Given the description of an element on the screen output the (x, y) to click on. 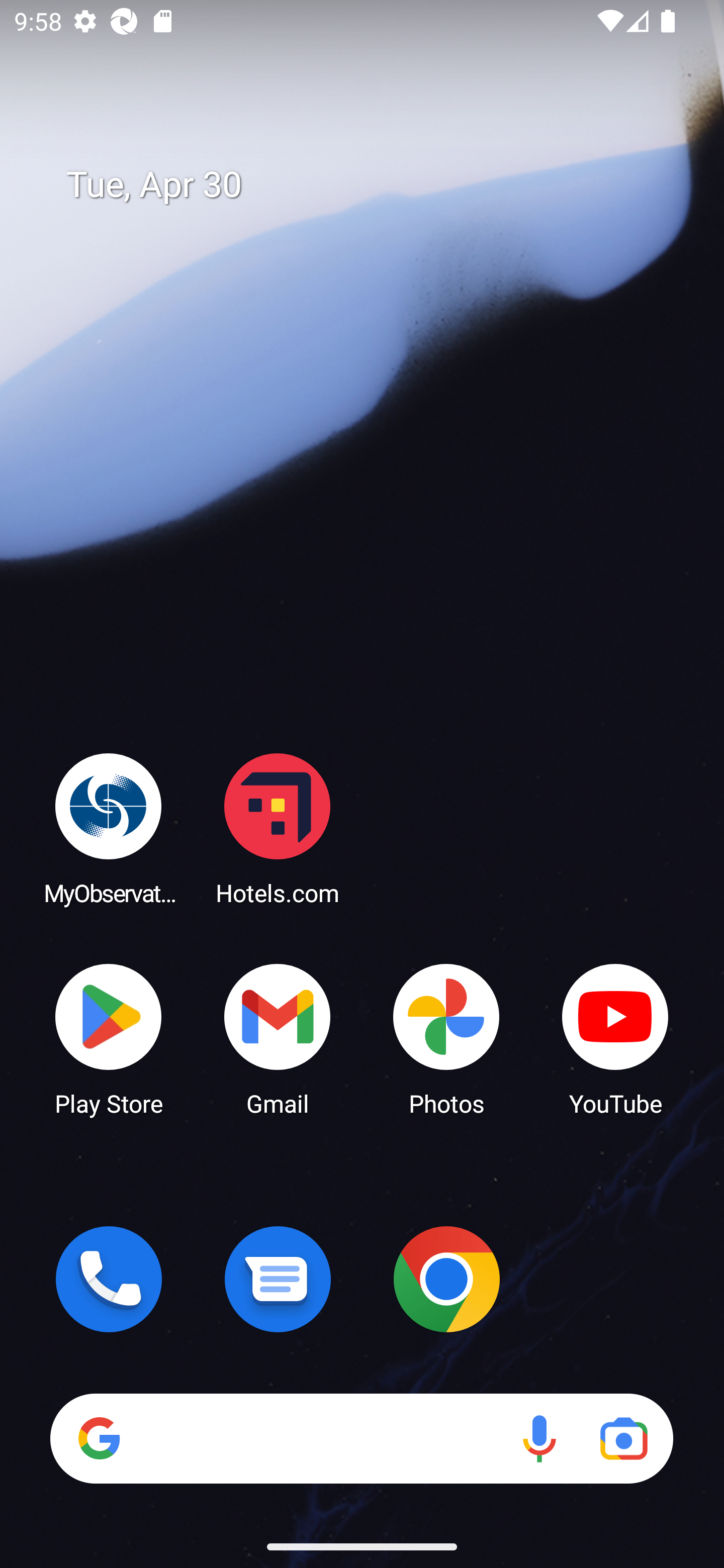
Tue, Apr 30 (375, 184)
MyObservatory (108, 828)
Hotels.com (277, 828)
Play Store (108, 1038)
Gmail (277, 1038)
Photos (445, 1038)
YouTube (615, 1038)
Phone (108, 1279)
Messages (277, 1279)
Chrome (446, 1279)
Voice search (539, 1438)
Google Lens (623, 1438)
